Given the description of an element on the screen output the (x, y) to click on. 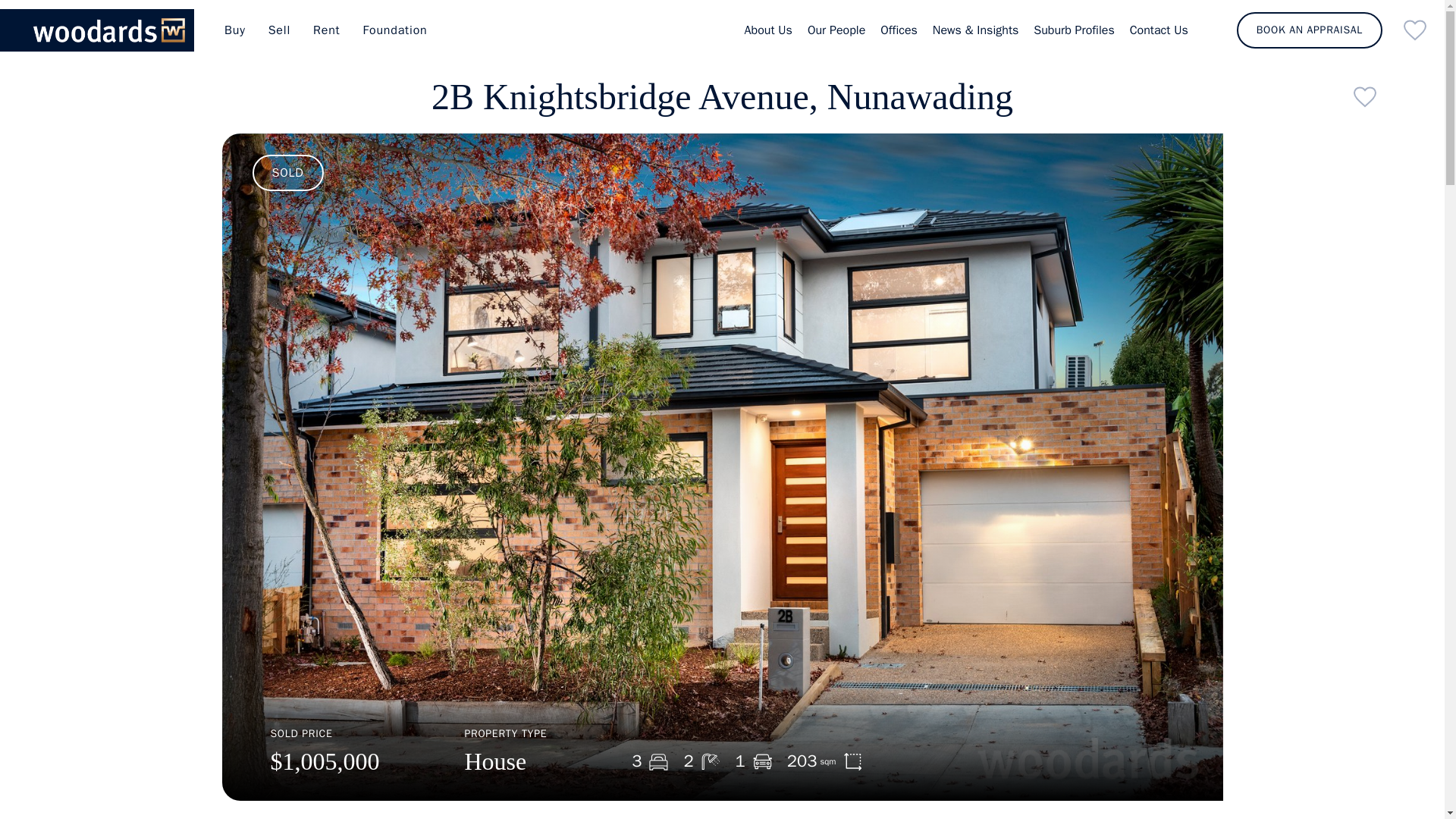
Suburb Profiles (1073, 29)
BOOK AN APPRAISAL (1308, 30)
Offices (898, 29)
Foundation (395, 30)
Our People (836, 29)
About Us (768, 29)
Contact Us (1158, 29)
